Given the description of an element on the screen output the (x, y) to click on. 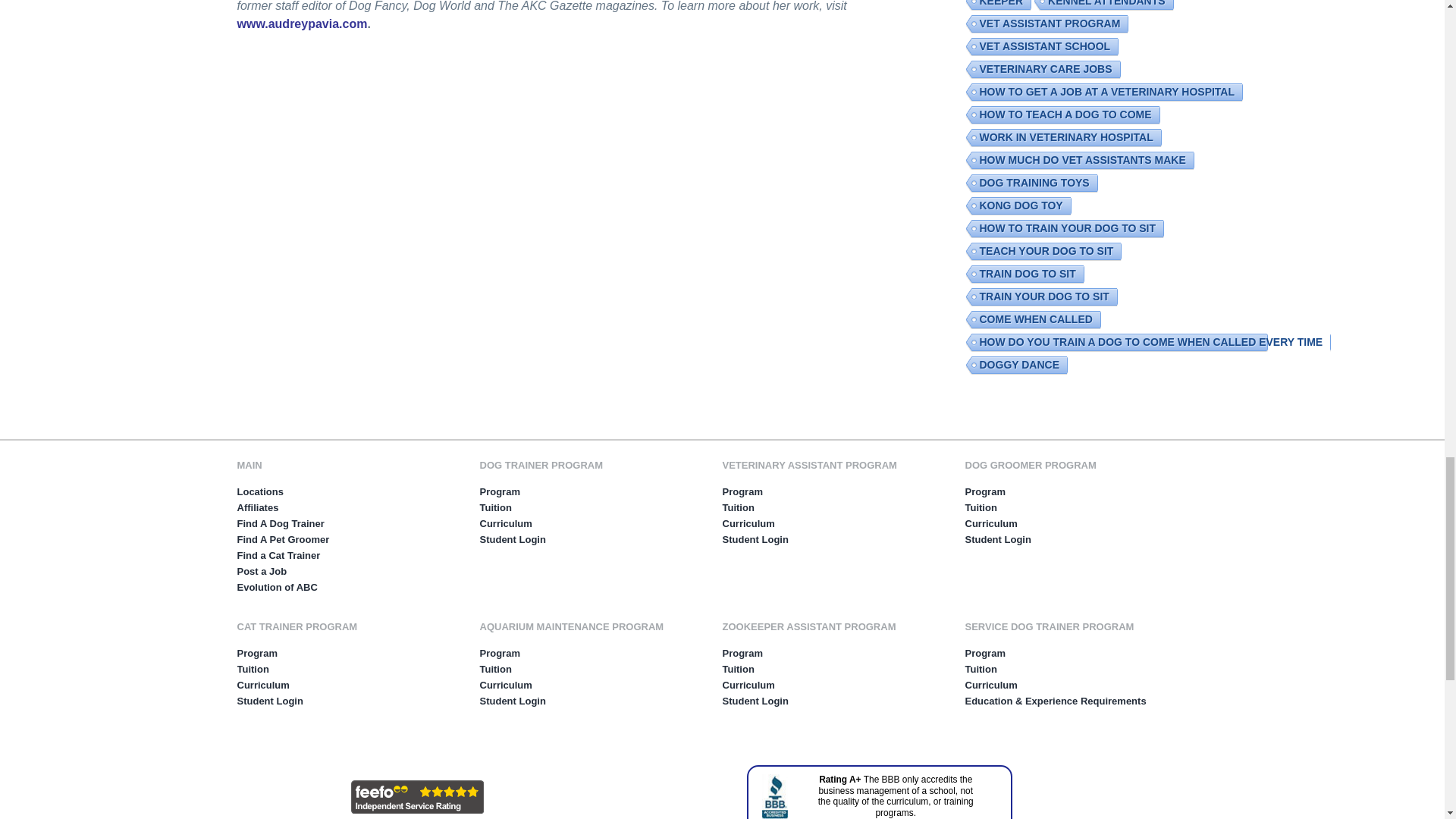
Animal Behavior College Locations (258, 491)
About Animal Behavior College (276, 586)
Cat Trainers (277, 555)
Pet Groomers (282, 539)
Post a Job (260, 571)
Dog Trainers (279, 523)
Become a Dog Trainer Online in 12 Months (596, 465)
